Given the description of an element on the screen output the (x, y) to click on. 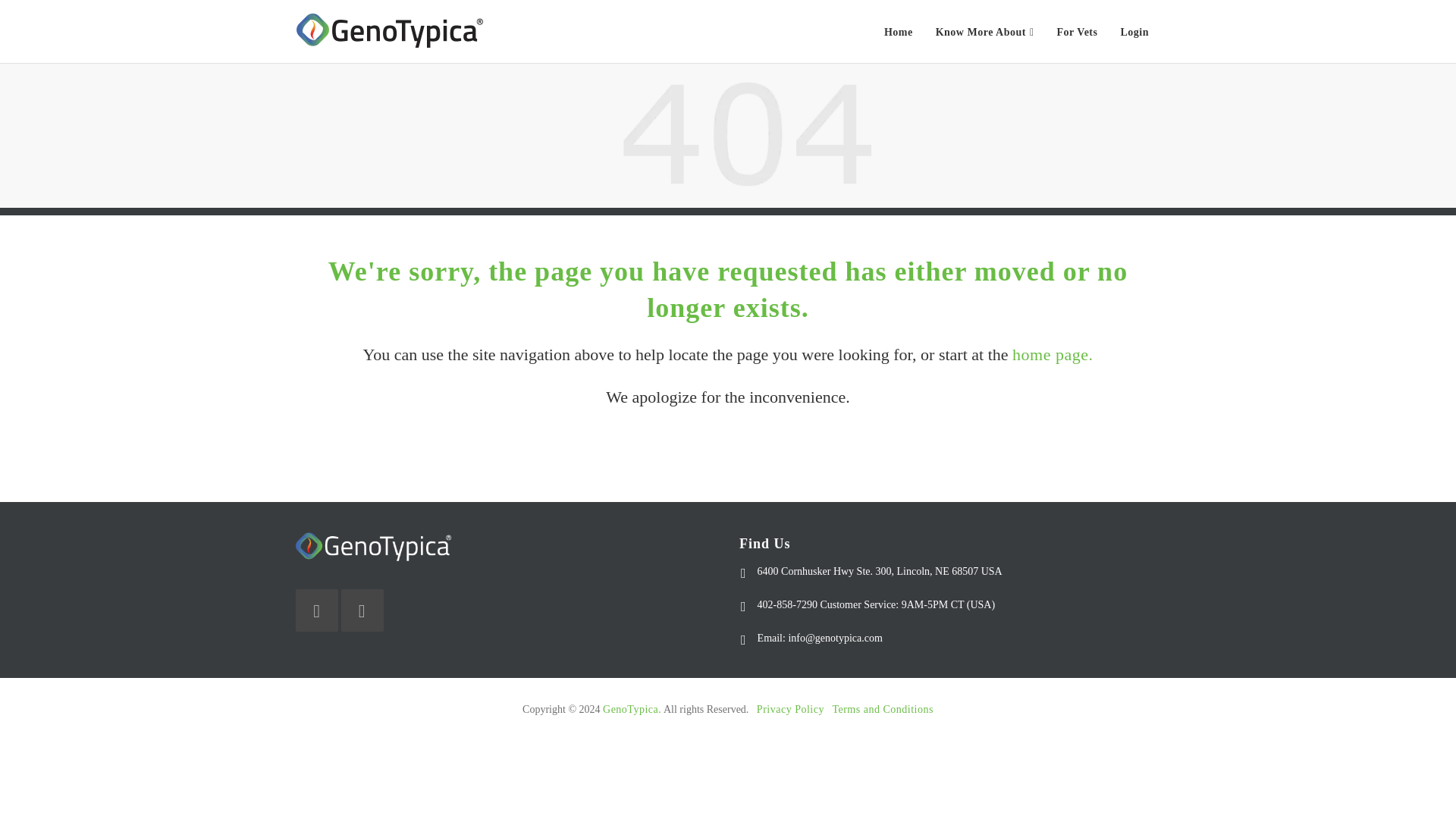
For Vets (1077, 31)
Know More About (984, 31)
home page. (1052, 353)
GenoTypica. (631, 708)
Terms and Conditions (882, 708)
Privacy Policy (790, 708)
